Given the description of an element on the screen output the (x, y) to click on. 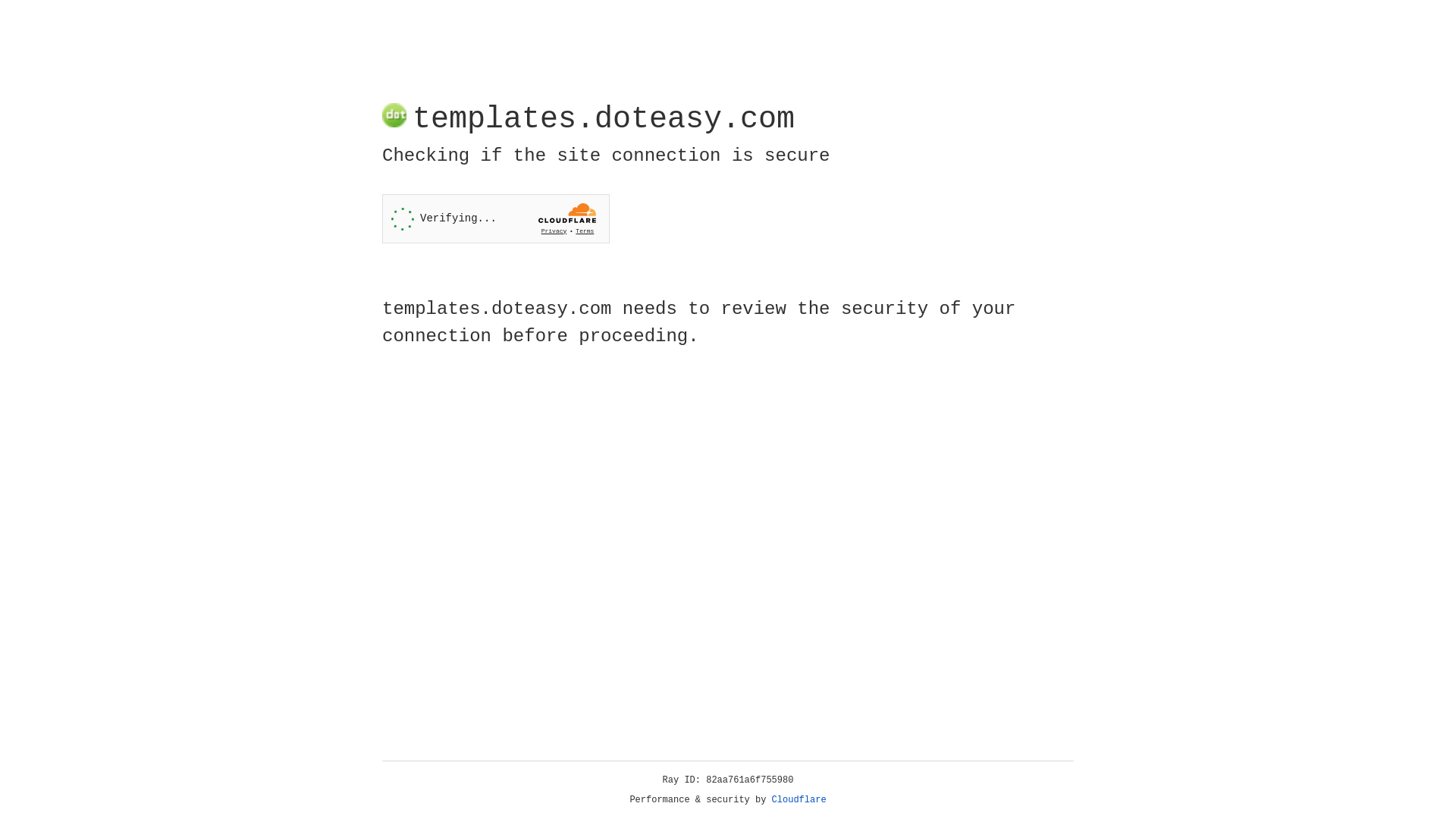
Widget containing a Cloudflare security challenge Element type: hover (495, 218)
Cloudflare Element type: text (798, 799)
